Given the description of an element on the screen output the (x, y) to click on. 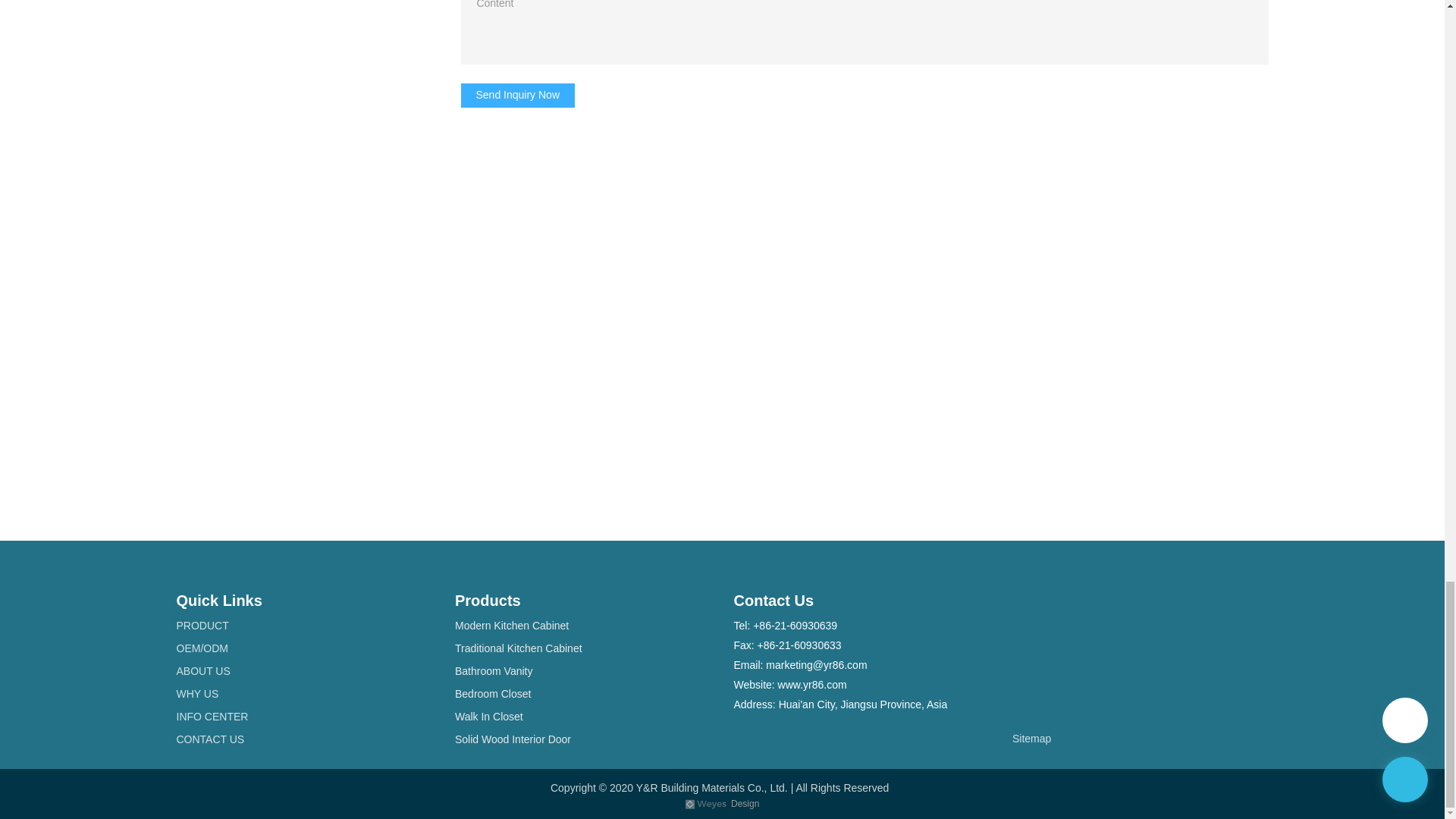
Send Inquiry Now (518, 95)
